Given the description of an element on the screen output the (x, y) to click on. 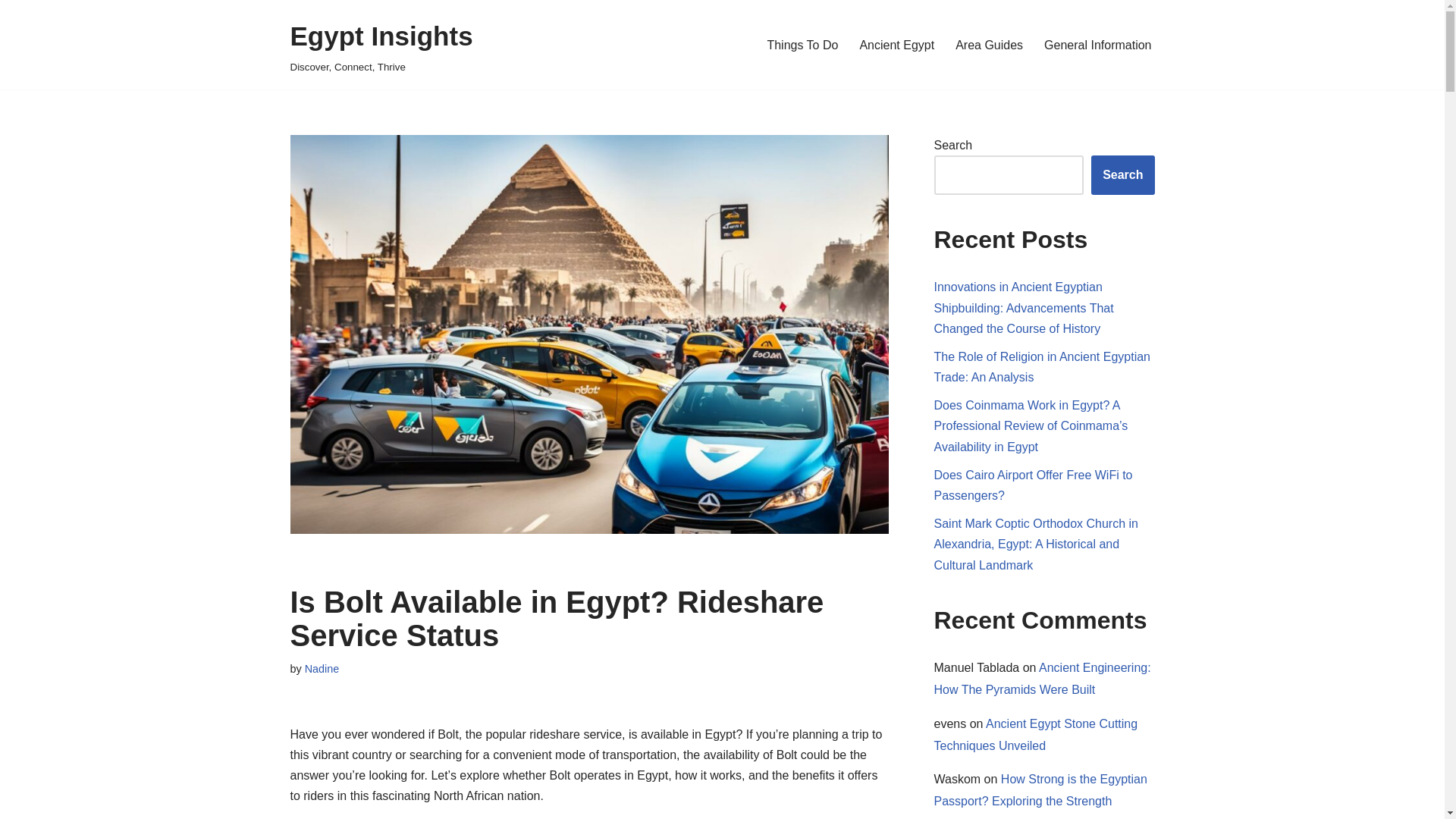
Skip to content (11, 31)
Nadine (380, 44)
General Information (321, 668)
Things To Do (1097, 45)
Ancient Egypt (802, 45)
Does Cairo Airport Offer Free WiFi to Passengers? (896, 45)
Search (1033, 485)
Area Guides (1122, 174)
Posts by Nadine (989, 45)
The Role of Religion in Ancient Egyptian Trade: An Analysis (321, 668)
